Given the description of an element on the screen output the (x, y) to click on. 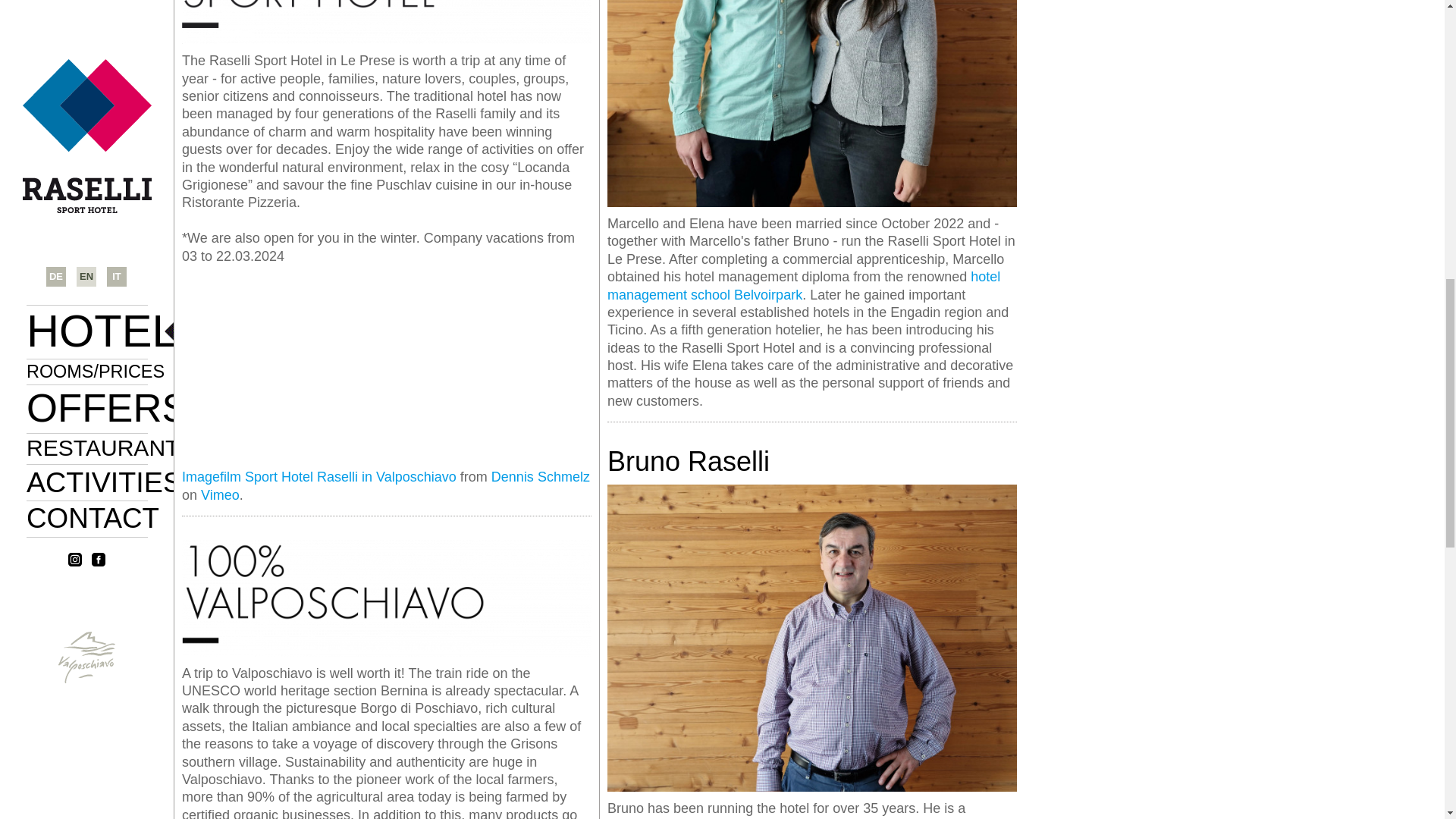
Dennis Schmelz (540, 476)
Vimeo (220, 494)
Imagefilm Sport Hotel Raselli in Valposchiavo (319, 476)
